Given the description of an element on the screen output the (x, y) to click on. 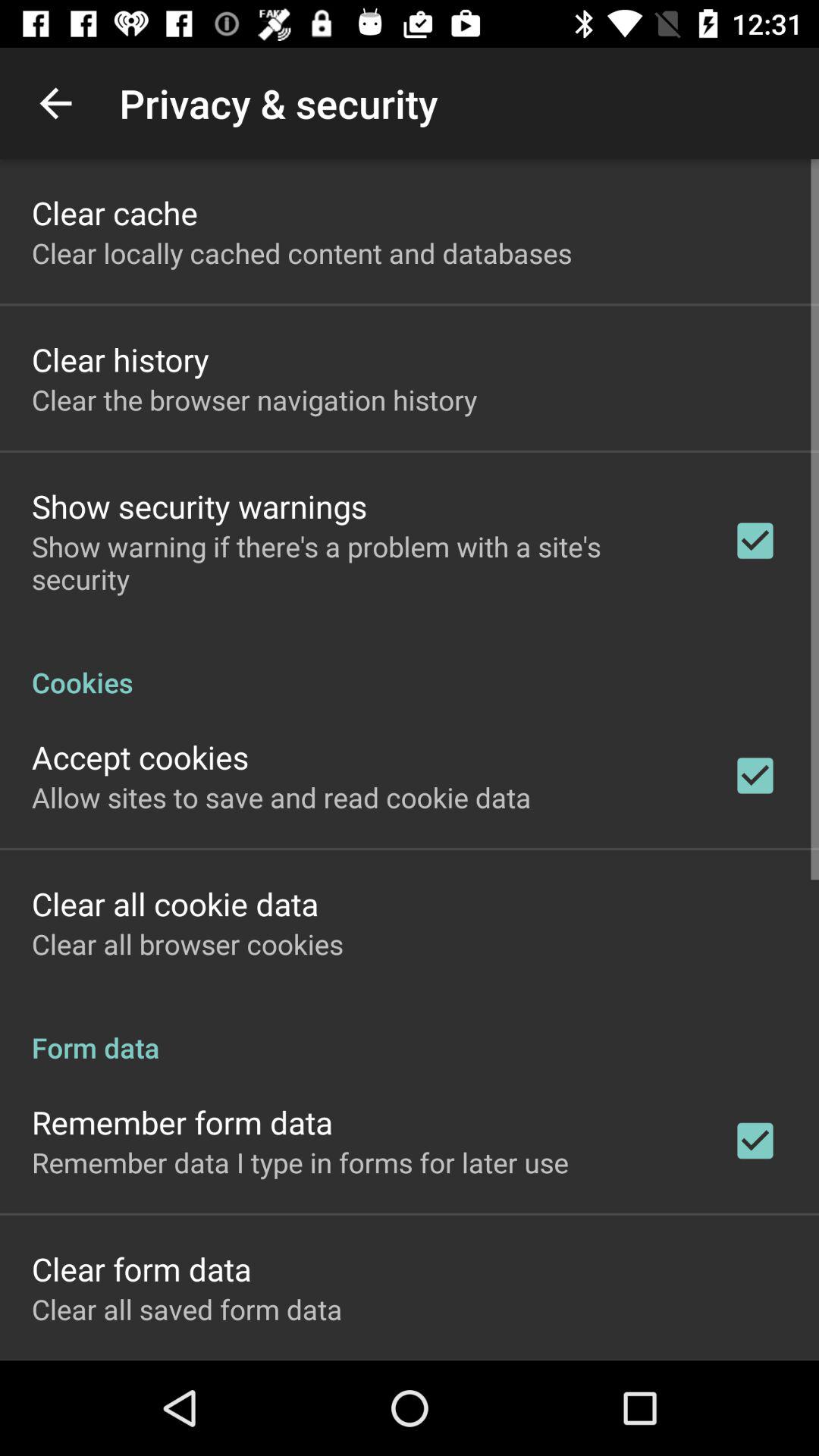
scroll to allow sites to app (281, 797)
